Given the description of an element on the screen output the (x, y) to click on. 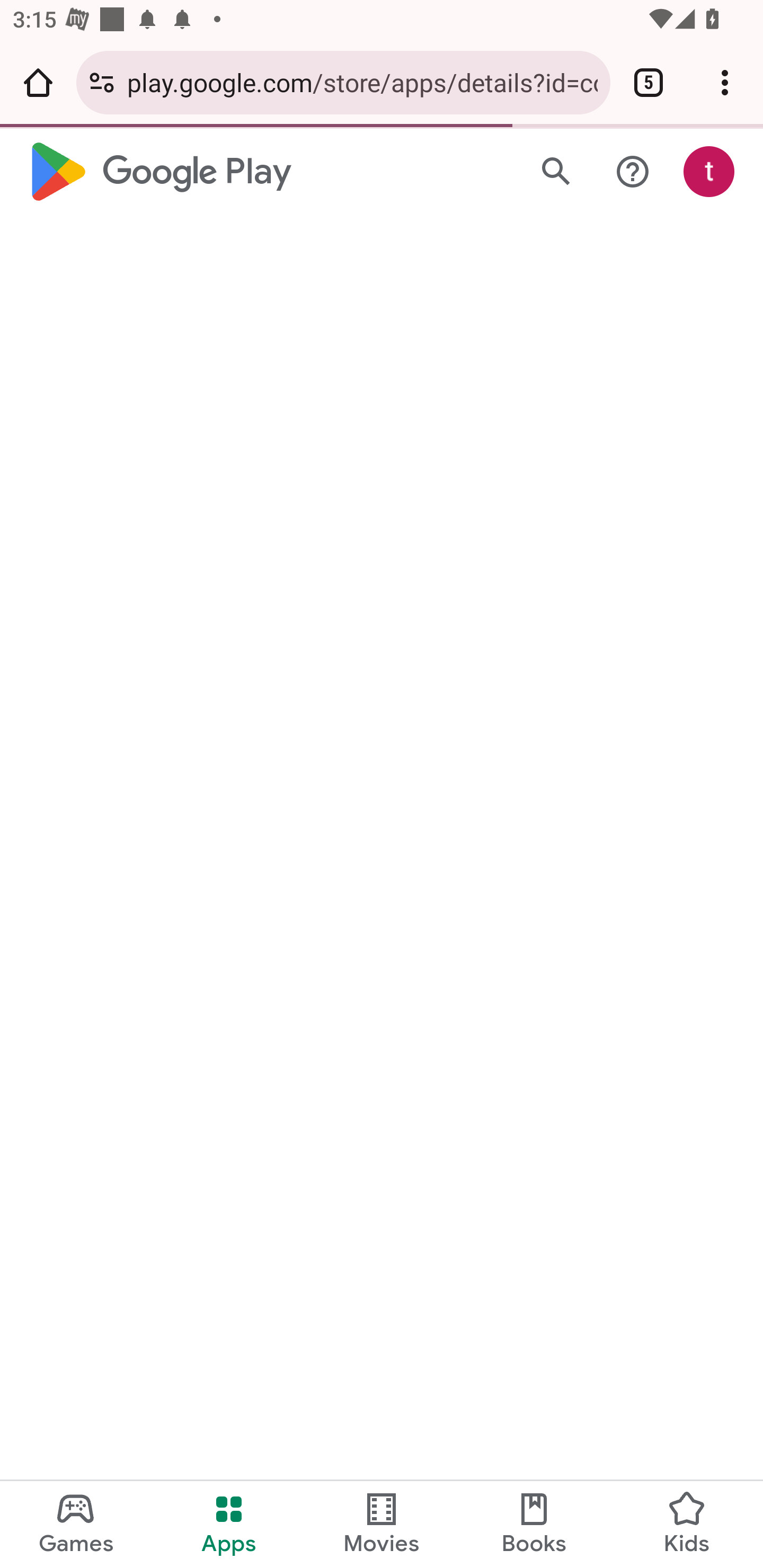
Open the home page (38, 82)
Connection is secure (101, 82)
Switch or close tabs (648, 82)
Customize and control Google Chrome (724, 82)
Google Play logo (158, 171)
Search (556, 171)
Help Center (632, 171)
Games (76, 1524)
Apps (228, 1524)
Movies (381, 1524)
Books (533, 1524)
Kids (686, 1524)
